Given the description of an element on the screen output the (x, y) to click on. 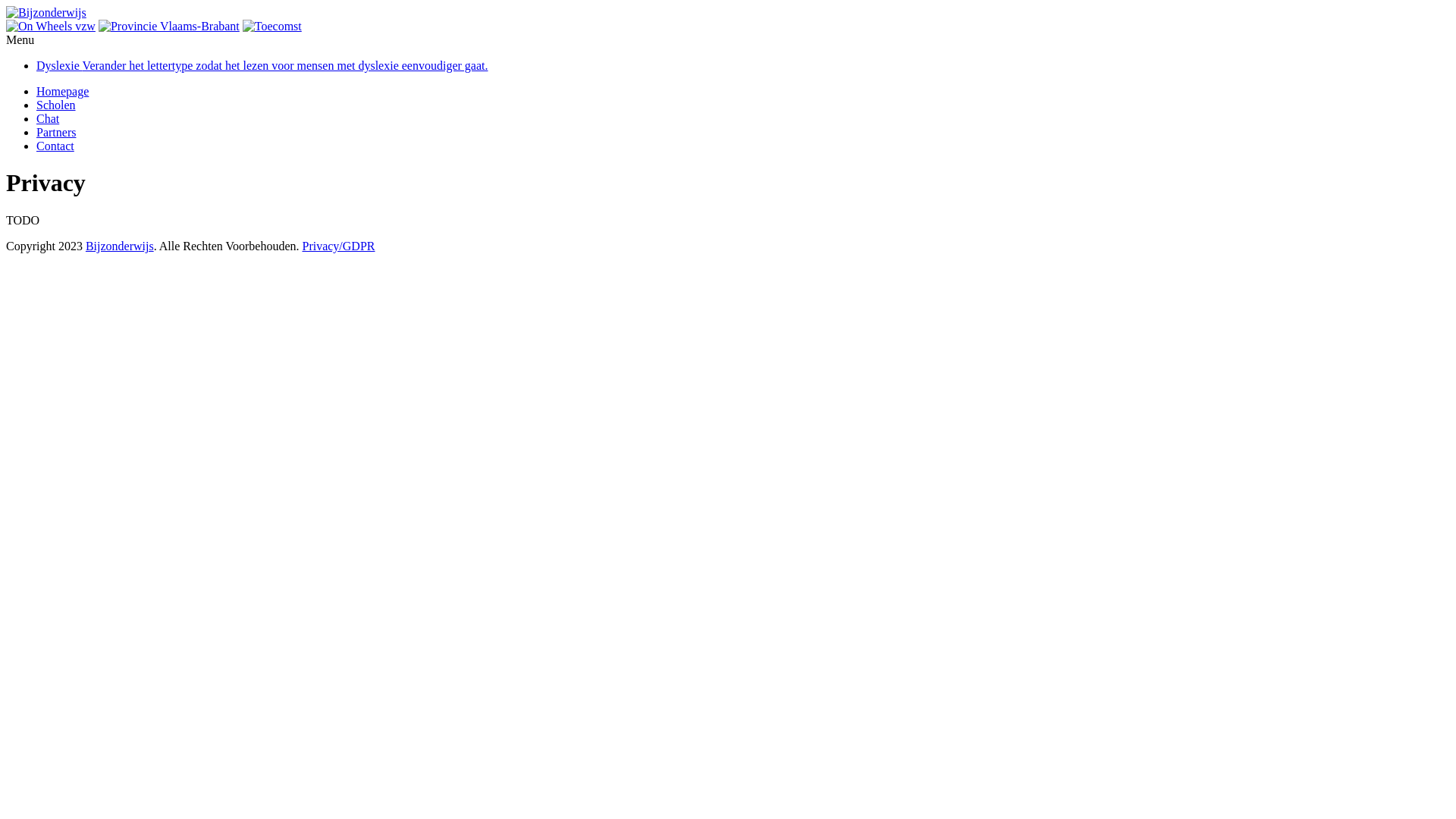
Contact Element type: text (55, 145)
Bijzonderwijs Element type: text (119, 245)
Chat Element type: text (47, 118)
Scholen Element type: text (55, 104)
Privacy/GDPR Element type: text (337, 245)
Homepage Element type: text (62, 90)
Partners Element type: text (55, 131)
